Given the description of an element on the screen output the (x, y) to click on. 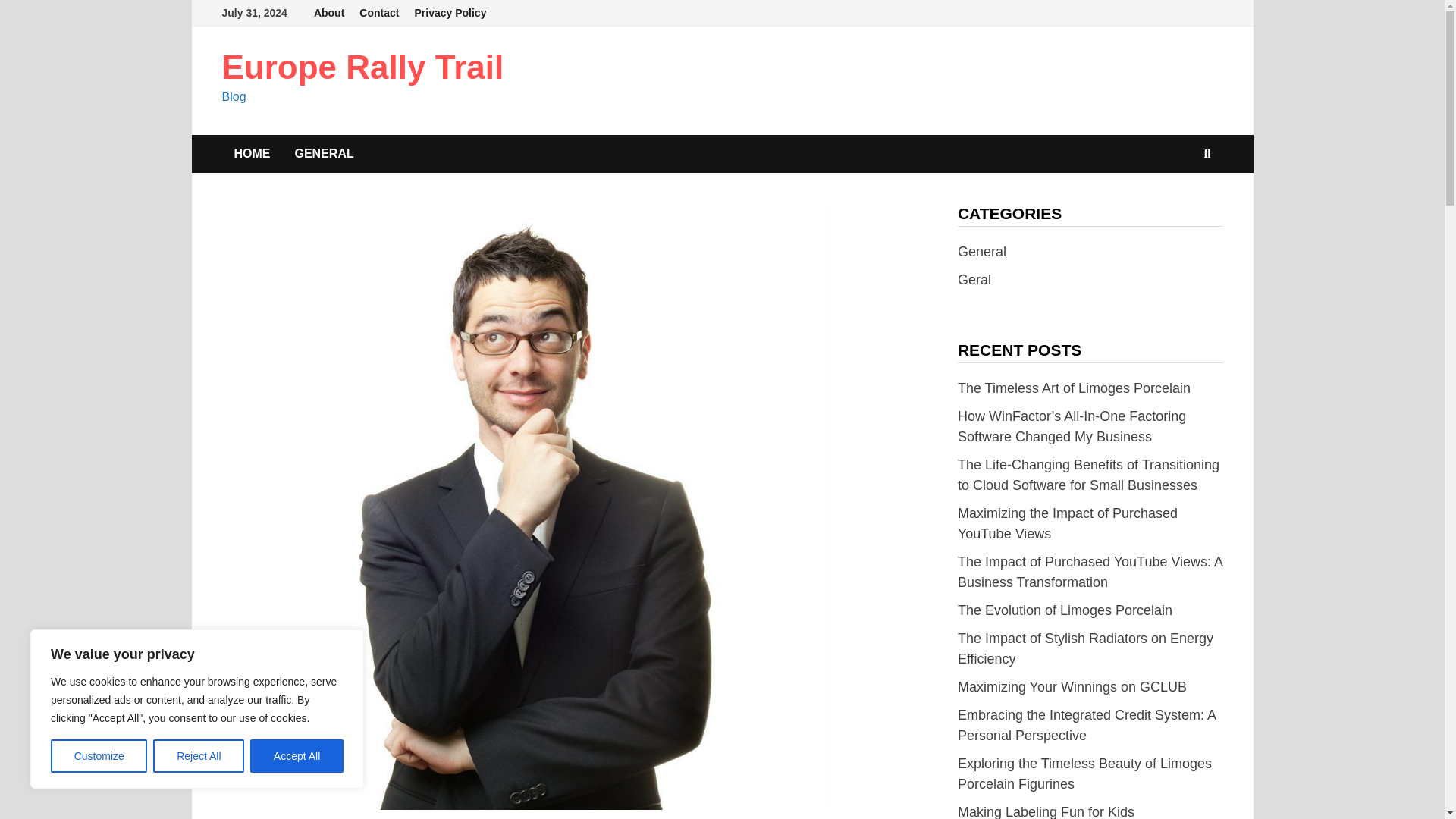
Accept All (296, 756)
Customize (98, 756)
Reject All (198, 756)
HOME (251, 153)
GENERAL (323, 153)
About (328, 13)
Europe Rally Trail (362, 66)
Contact (379, 13)
Privacy Policy (449, 13)
